Given the description of an element on the screen output the (x, y) to click on. 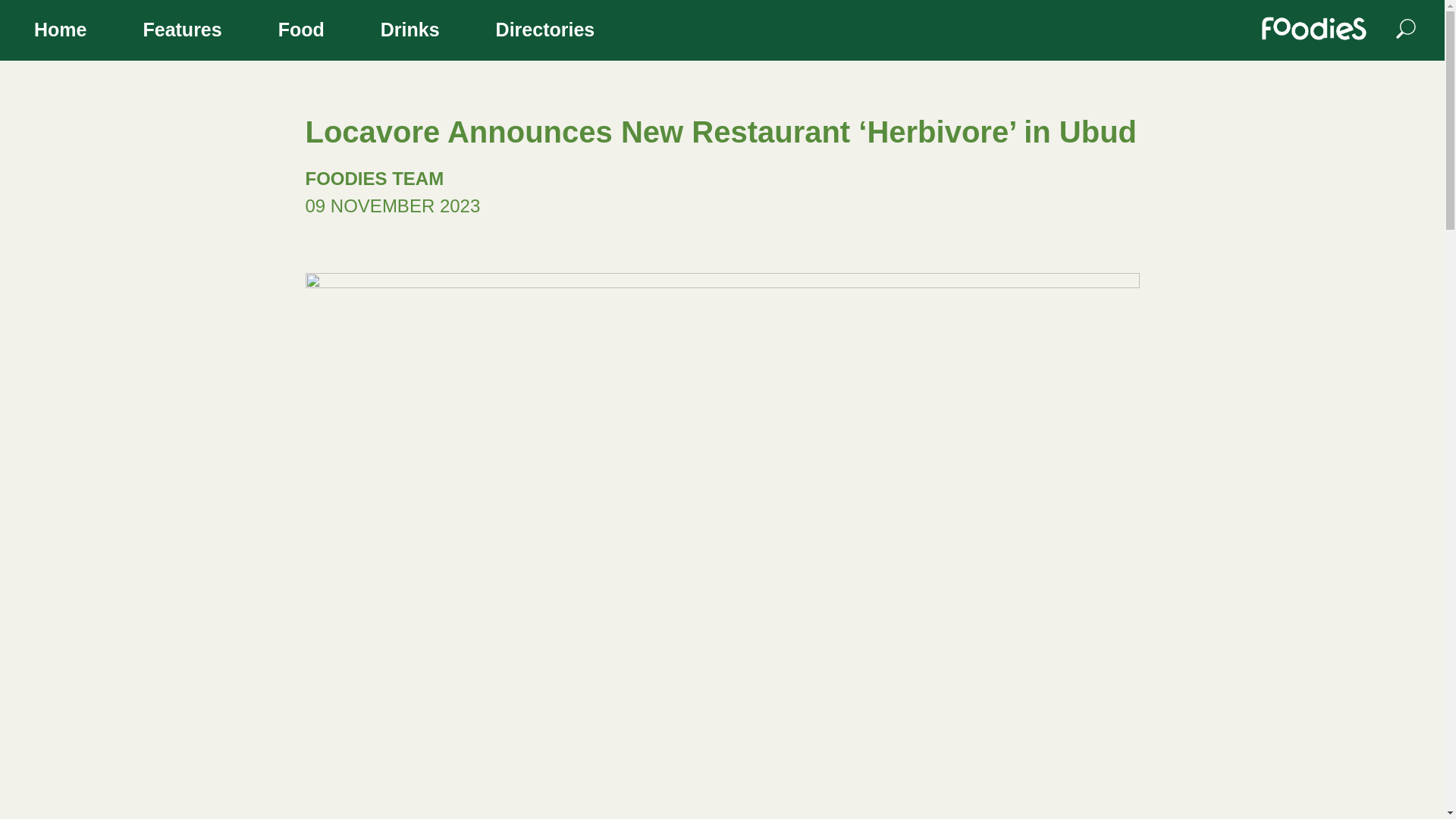
Directories (545, 31)
Home (60, 31)
Features (181, 31)
Drinks (410, 31)
Food (301, 31)
